Given the description of an element on the screen output the (x, y) to click on. 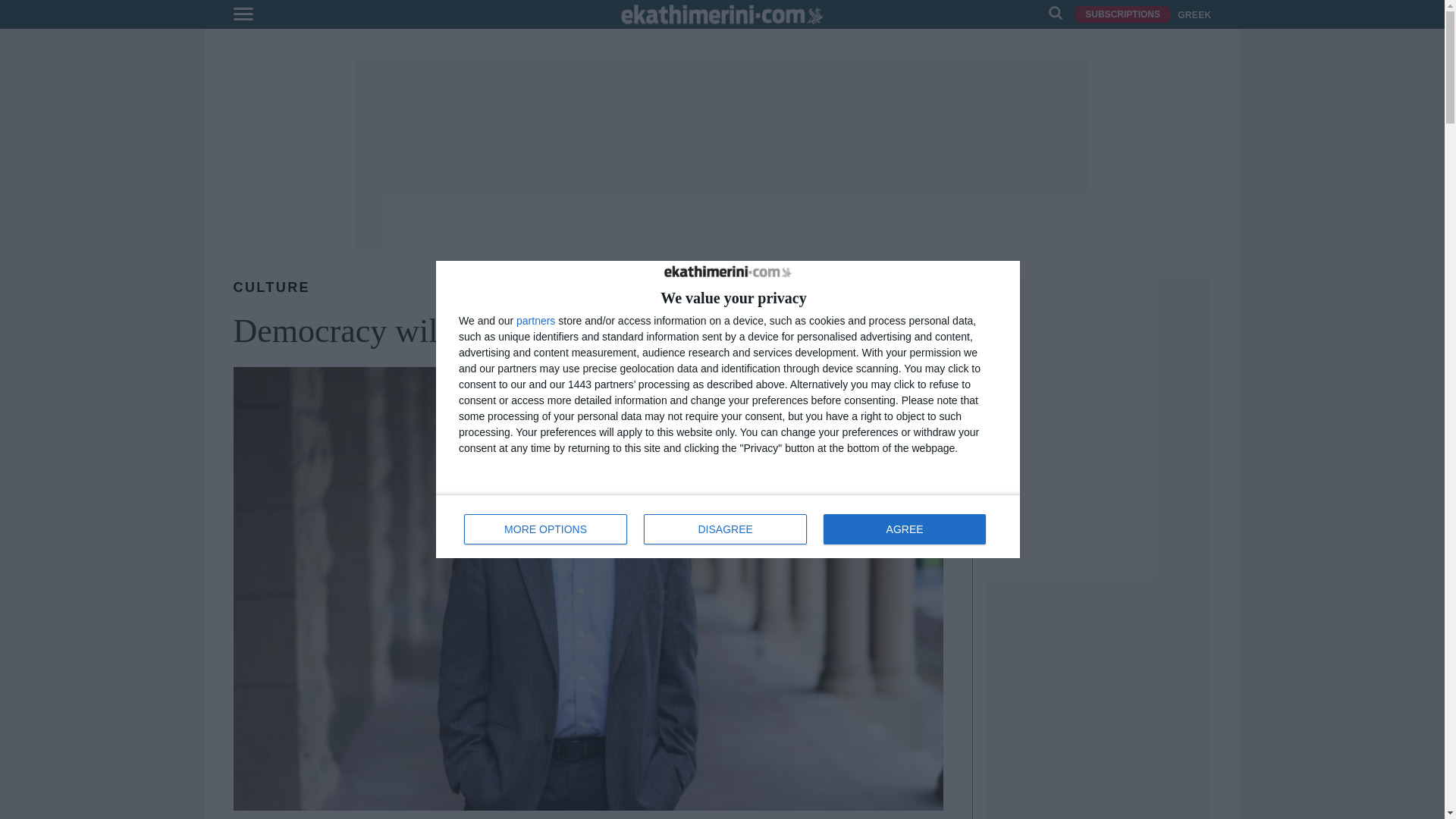
AGREE (904, 529)
DISAGREE (724, 529)
partners (727, 525)
MORE OPTIONS (535, 320)
